Given the description of an element on the screen output the (x, y) to click on. 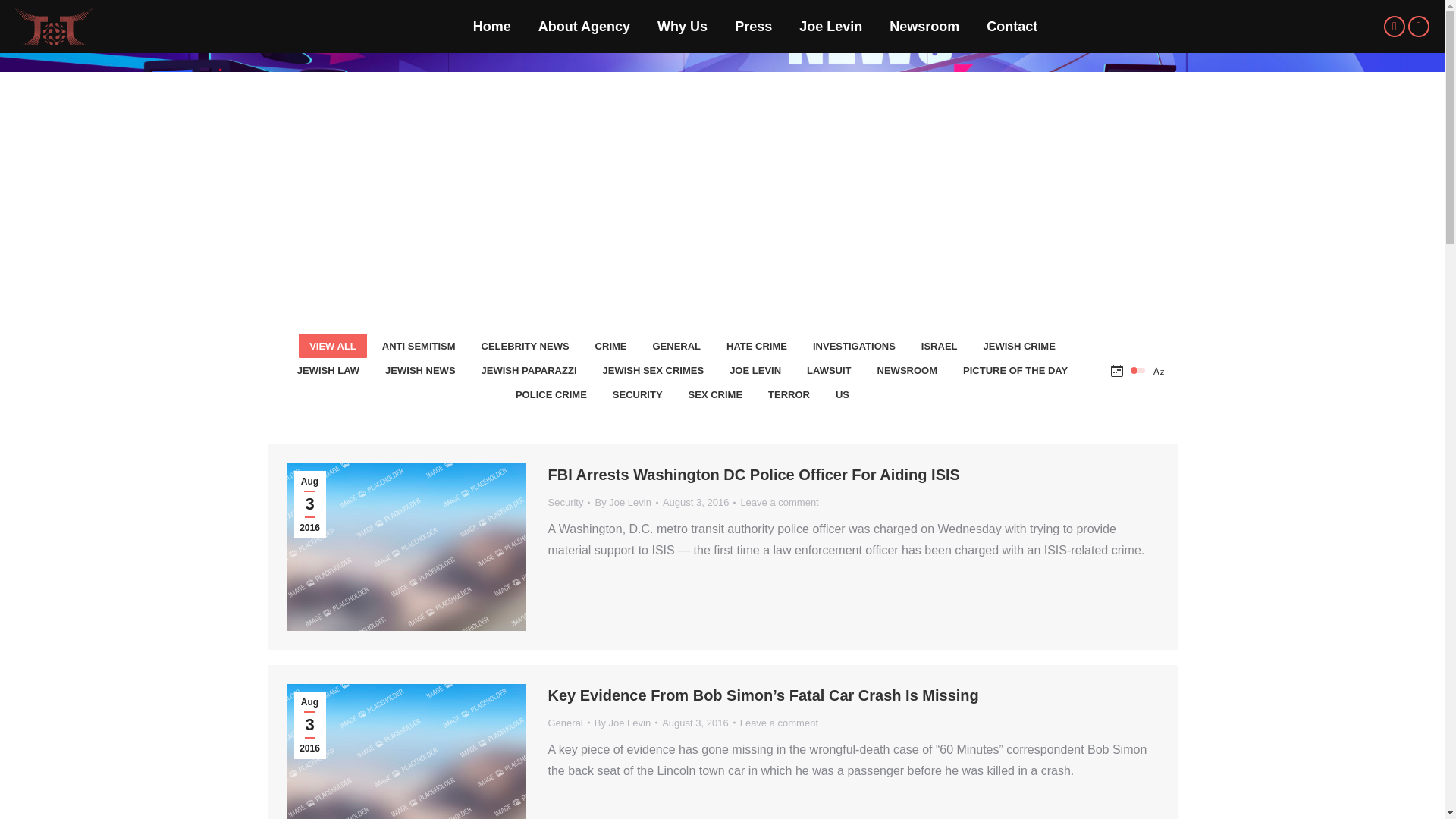
CRIME (611, 345)
JEWISH PAPARAZZI (529, 369)
About Agency (584, 26)
Joe Levin (830, 26)
Linkedin page opens in new window (1418, 25)
Linkedin page opens in new window (1418, 25)
JEWISH CRIME (1018, 345)
Home (691, 211)
Twitter page opens in new window (1394, 25)
View all posts by Joe Levin (626, 723)
